Given the description of an element on the screen output the (x, y) to click on. 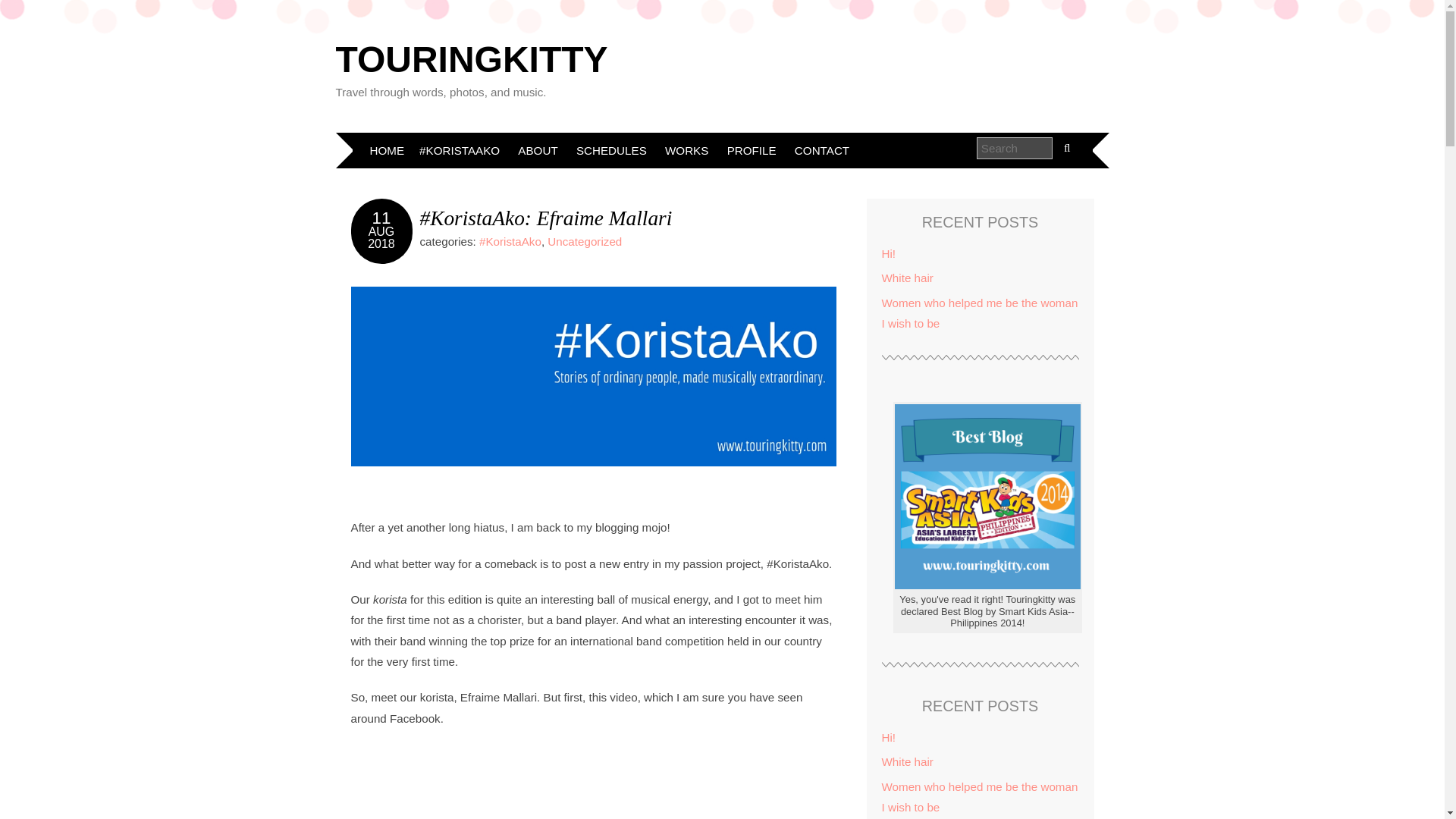
Women who helped me be the woman I wish to be (978, 313)
White hair (906, 277)
TOURINGKITTY (470, 59)
PROFILE (751, 150)
ABOUT (537, 150)
11 (381, 217)
SCHEDULES (611, 150)
WORKS (687, 150)
Uncategorized (584, 241)
Hi! (887, 253)
